Given the description of an element on the screen output the (x, y) to click on. 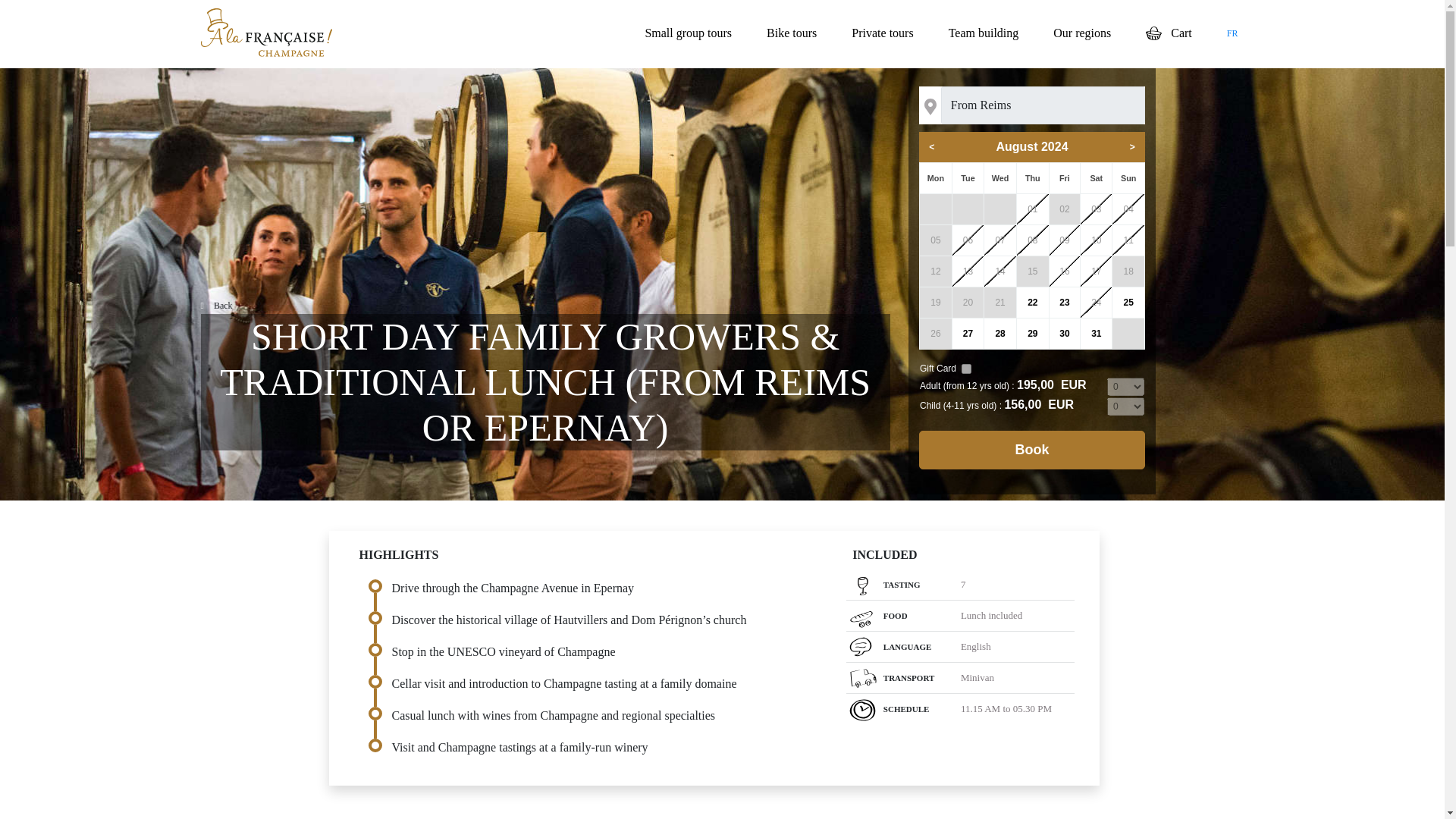
Team building (983, 32)
Private tours (881, 32)
Back (215, 305)
Small group tours (688, 32)
Cart (1169, 33)
Bike tours (791, 32)
FR (1232, 32)
Our regions (1081, 32)
